Given the description of an element on the screen output the (x, y) to click on. 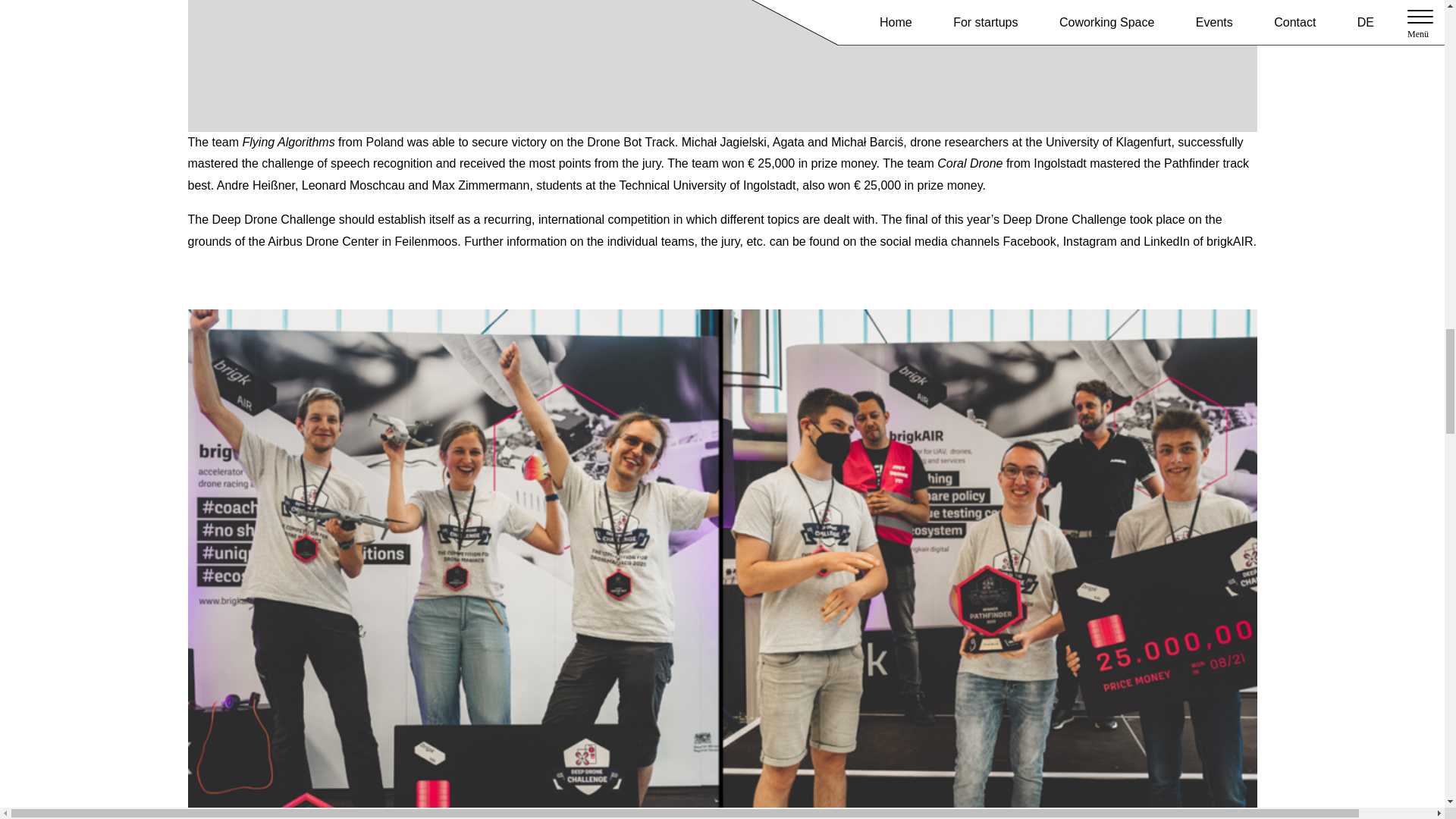
LinkedIn (1165, 241)
Facebook (1029, 241)
Instagram (1091, 241)
